Given the description of an element on the screen output the (x, y) to click on. 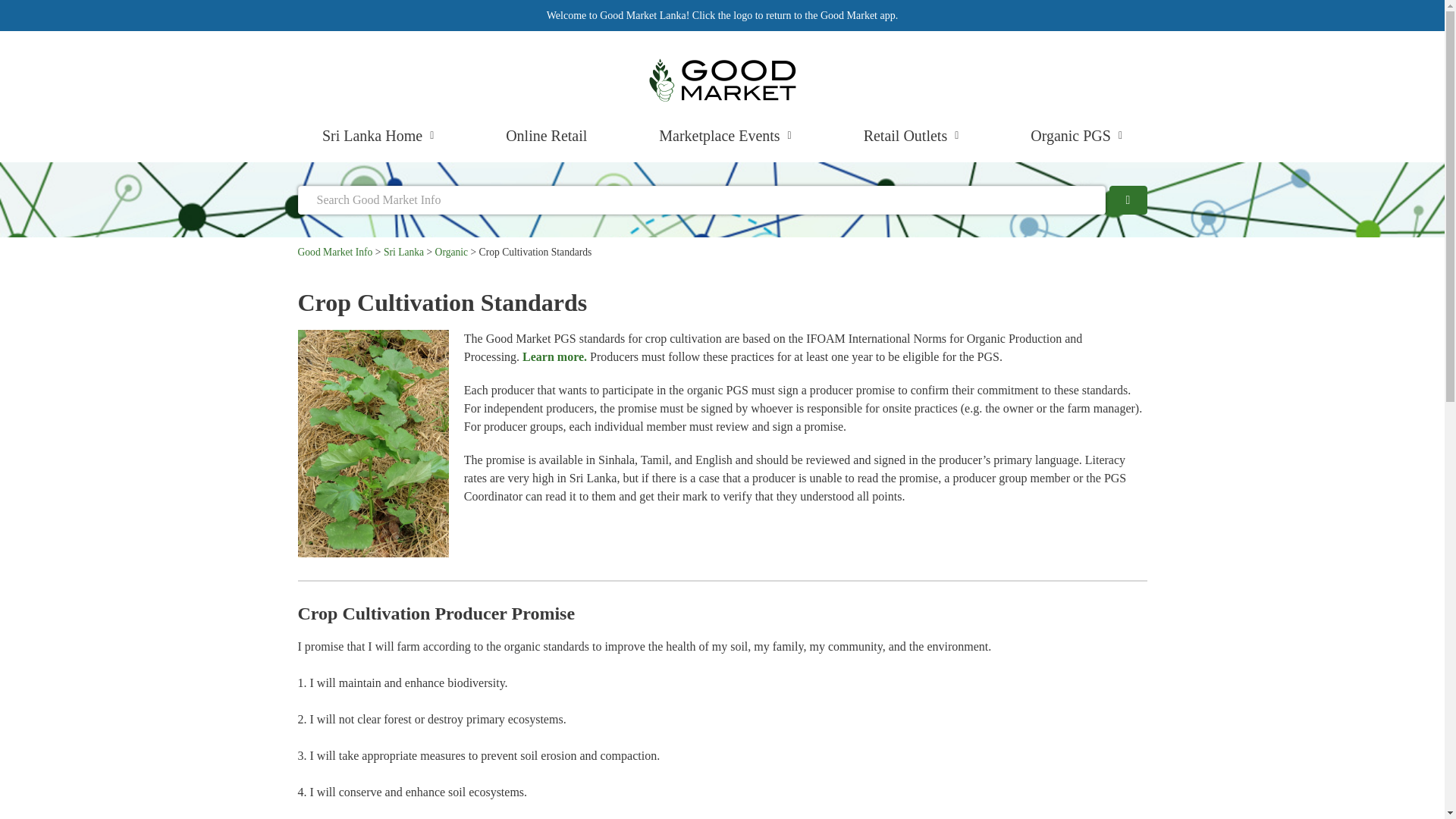
Search (701, 199)
Good Market Logo (721, 79)
